Given the description of an element on the screen output the (x, y) to click on. 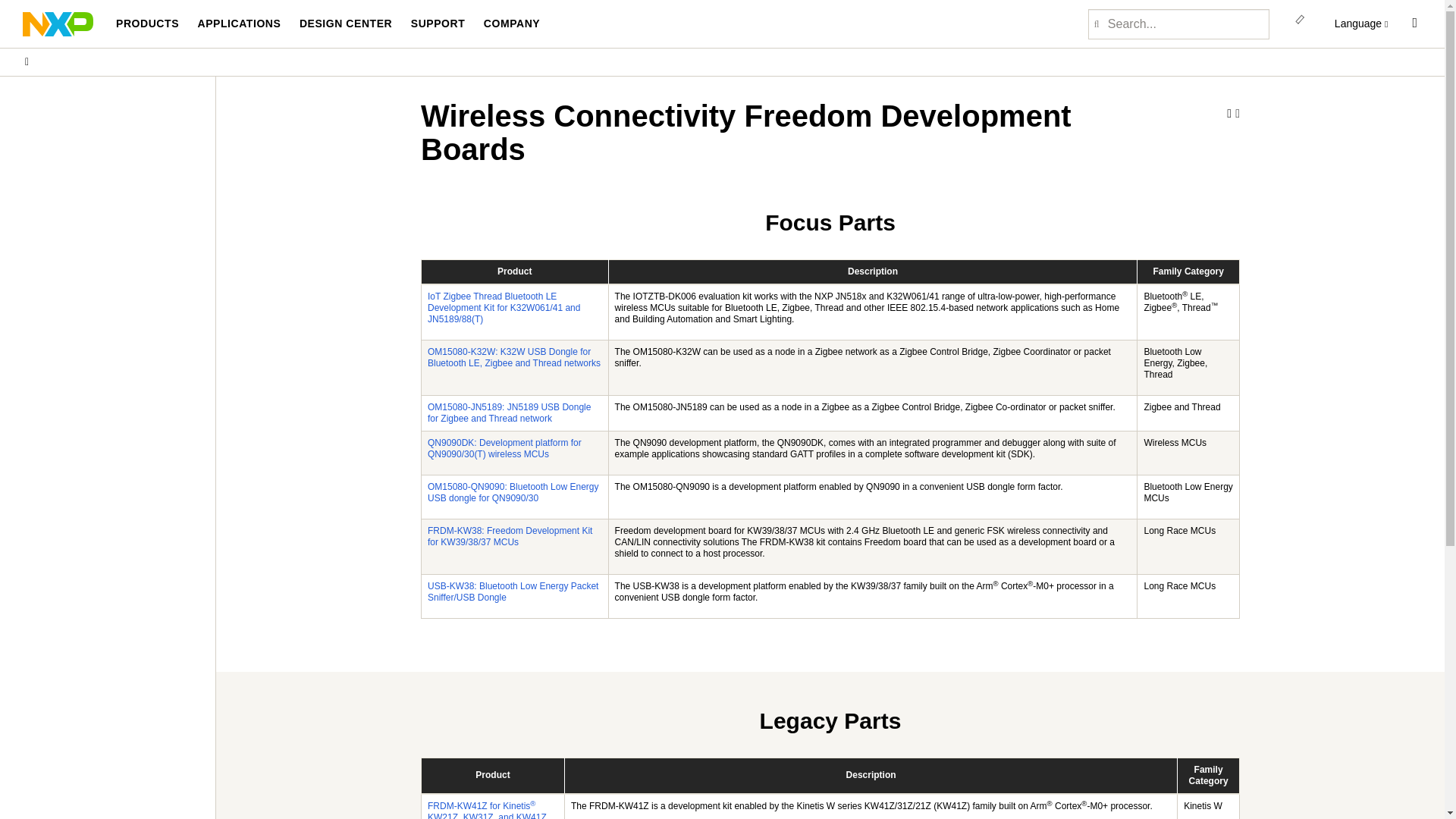
COMPANY (511, 23)
Language  (1361, 23)
Share via Email (1229, 113)
nxp.com (26, 61)
Share (1237, 113)
APPLICATIONS (238, 23)
DESIGN CENTER (345, 23)
SUPPORT (437, 23)
NXP Semiconductor (58, 23)
PRODUCTS (147, 23)
